Given the description of an element on the screen output the (x, y) to click on. 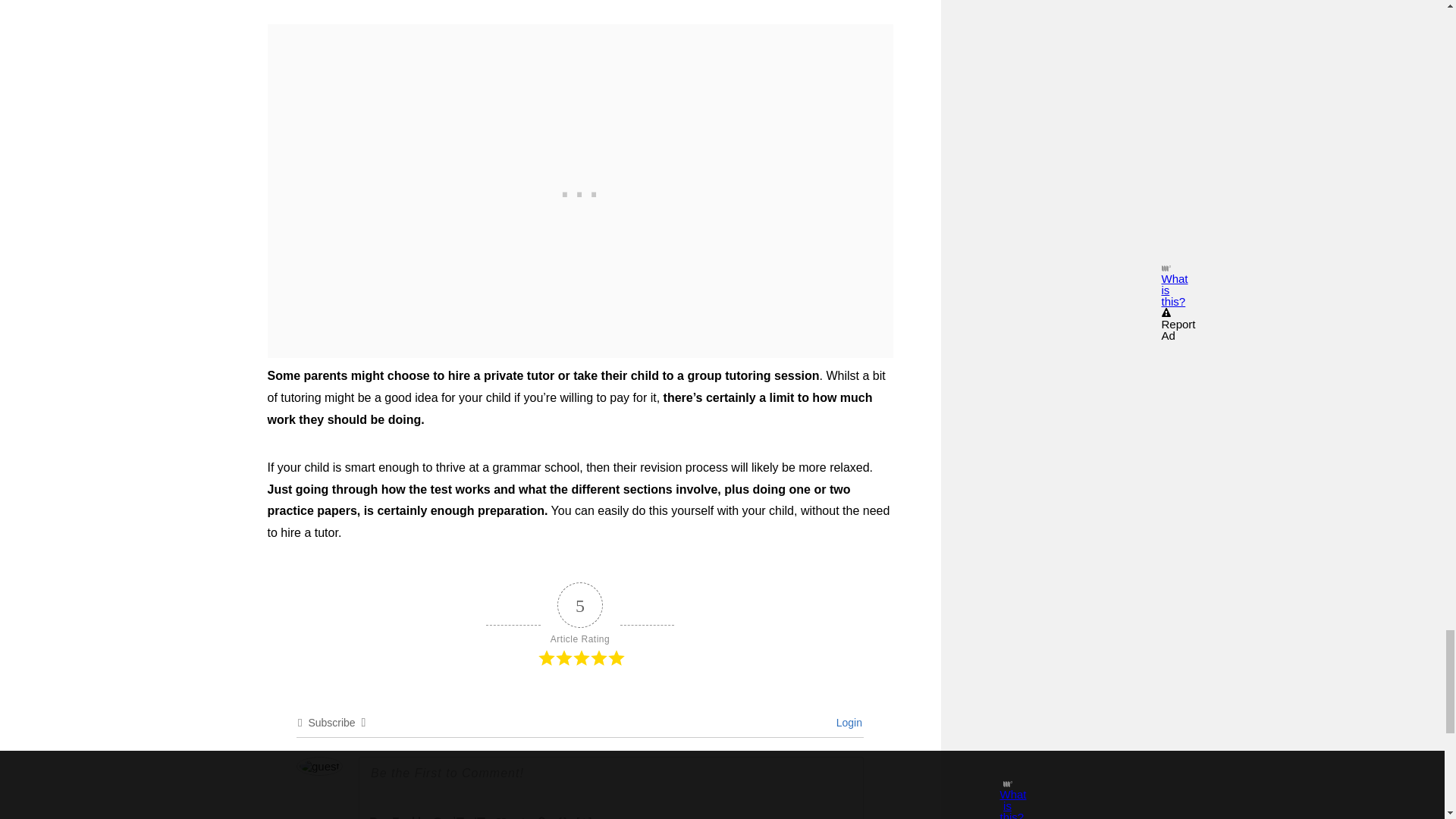
Login (846, 722)
